Given the description of an element on the screen output the (x, y) to click on. 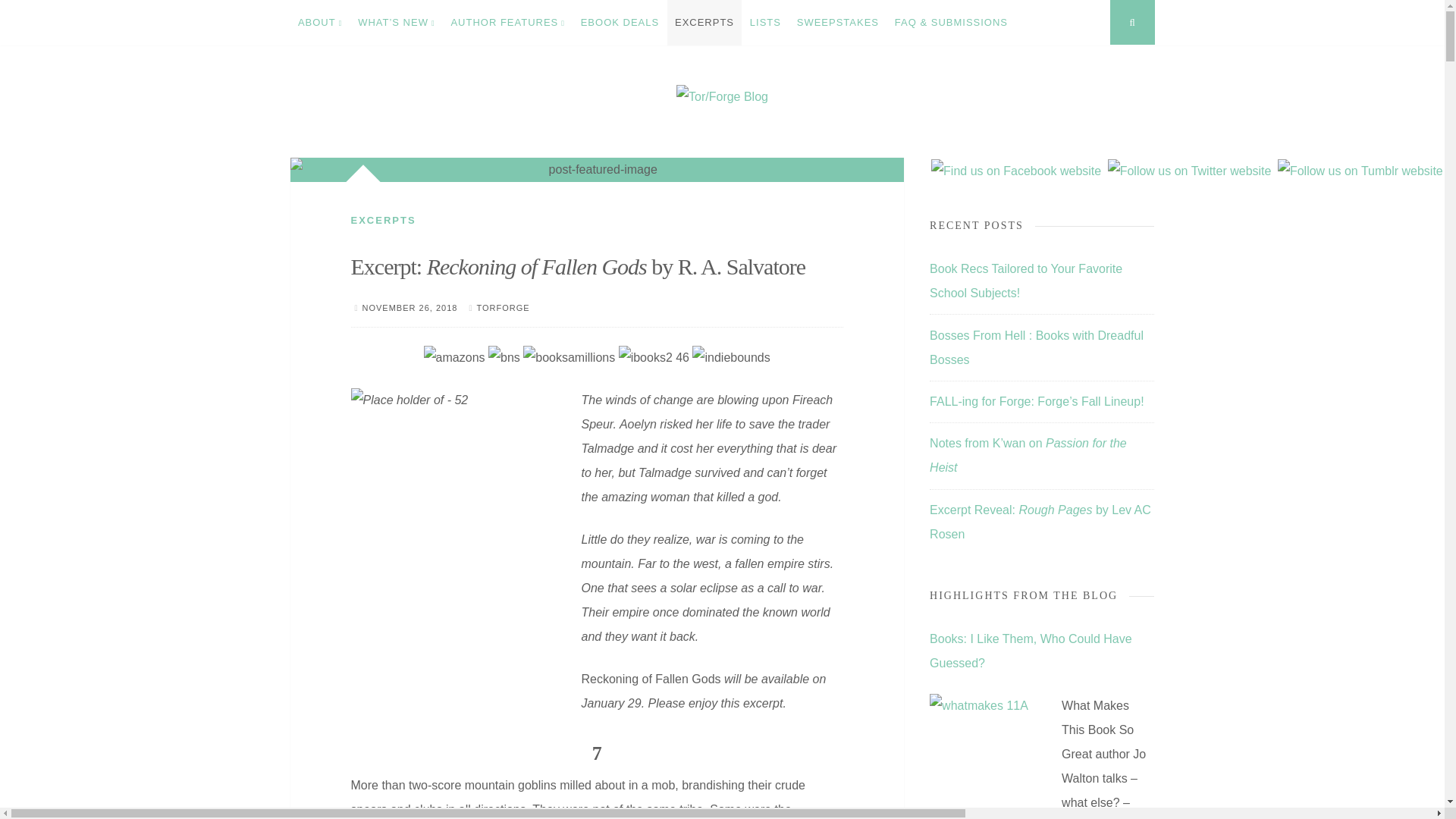
Reckoning of Fallen Gods (650, 678)
Menu link Excerpts (704, 22)
EBOOK DEALS (619, 22)
EXCERPTS (704, 22)
LISTS (765, 22)
Menu link Author Features (507, 22)
SWEEPSTAKES (837, 22)
toggle menu (13, 13)
Menu link Sweepstakes (837, 22)
TORFORGE (502, 307)
